Given the description of an element on the screen output the (x, y) to click on. 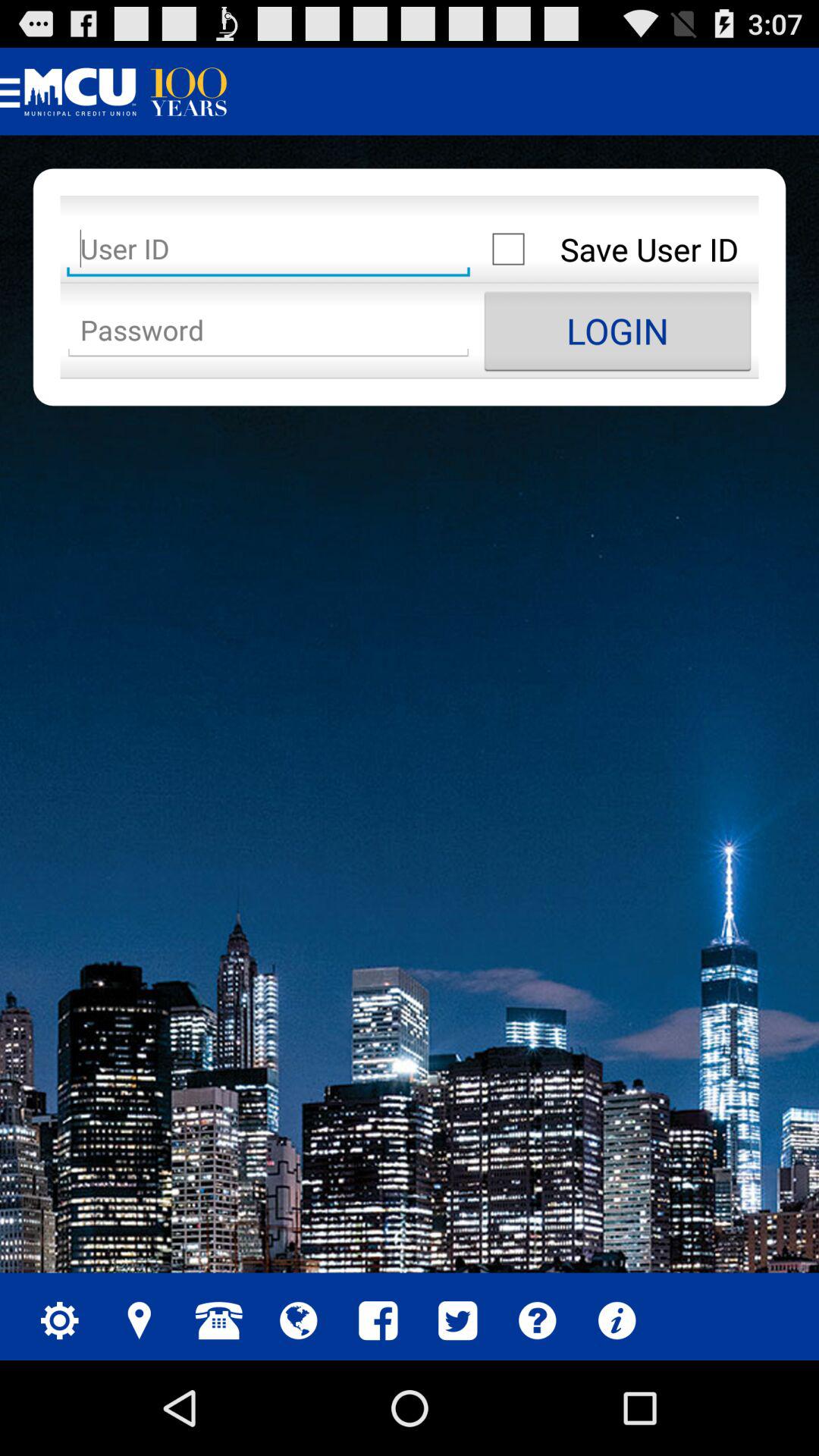
enter user id (268, 249)
